Given the description of an element on the screen output the (x, y) to click on. 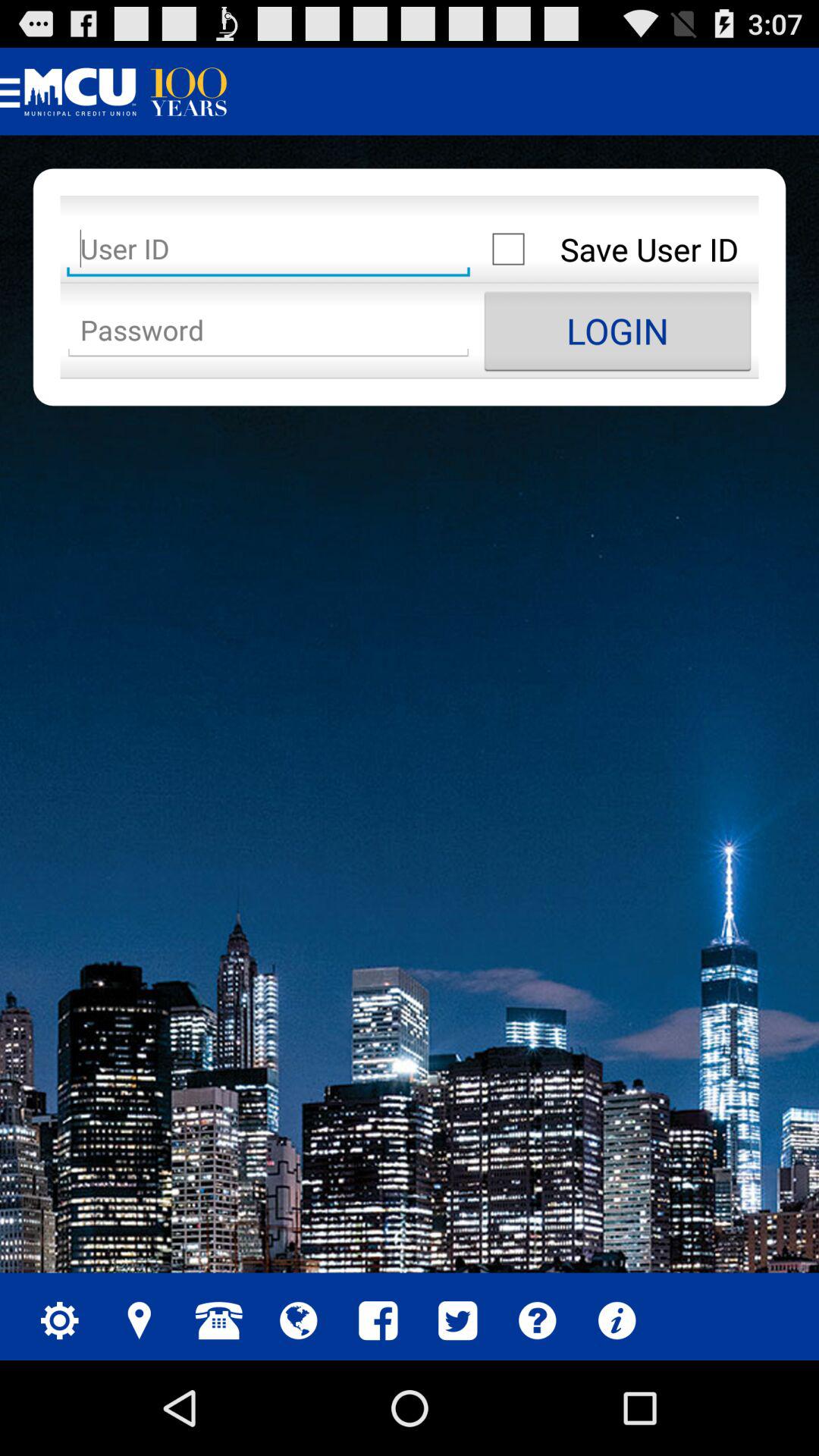
enter user id (268, 249)
